Given the description of an element on the screen output the (x, y) to click on. 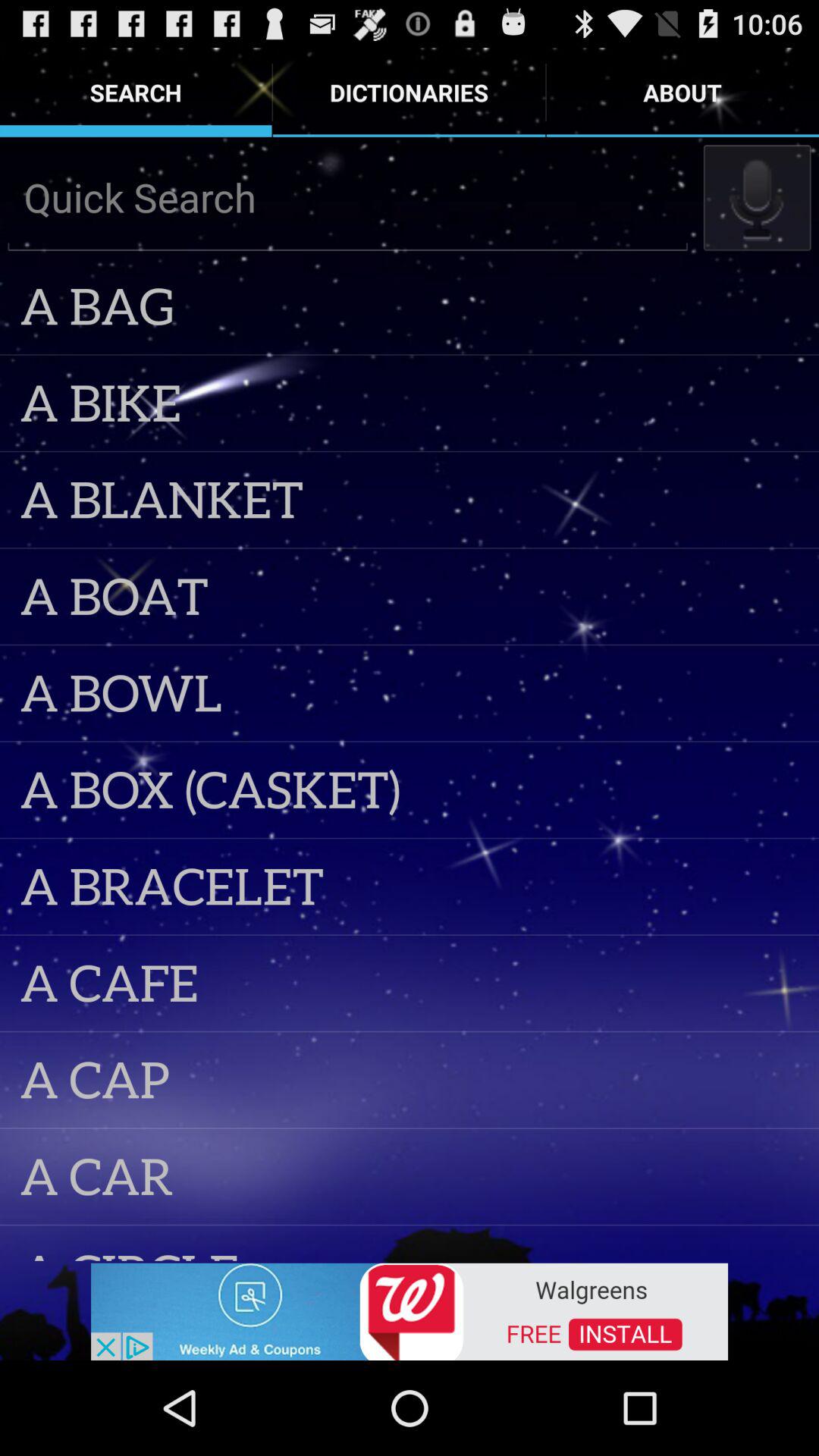
search bar (347, 197)
